Given the description of an element on the screen output the (x, y) to click on. 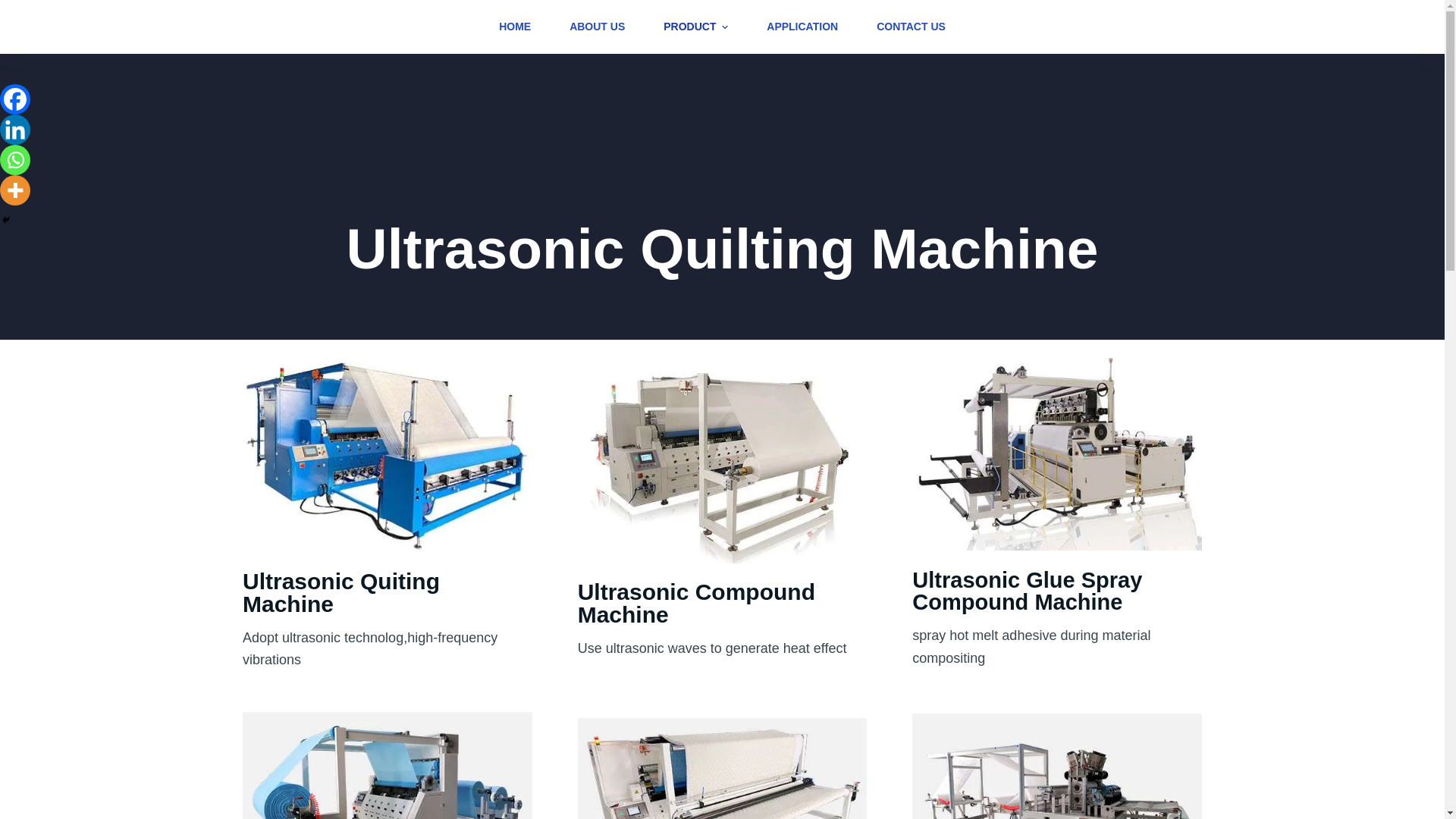
Facebook (15, 99)
Ultrasonic Glue Spray Compound Machine (1026, 591)
Ultrasonic Compound Machine (696, 603)
More (15, 190)
ABOUT US (597, 26)
Ultrasonic Quiting Machine (341, 592)
APPLICATION (802, 26)
CONTACT US (900, 26)
Skip to content (15, 7)
Whatsapp (15, 159)
